Given the description of an element on the screen output the (x, y) to click on. 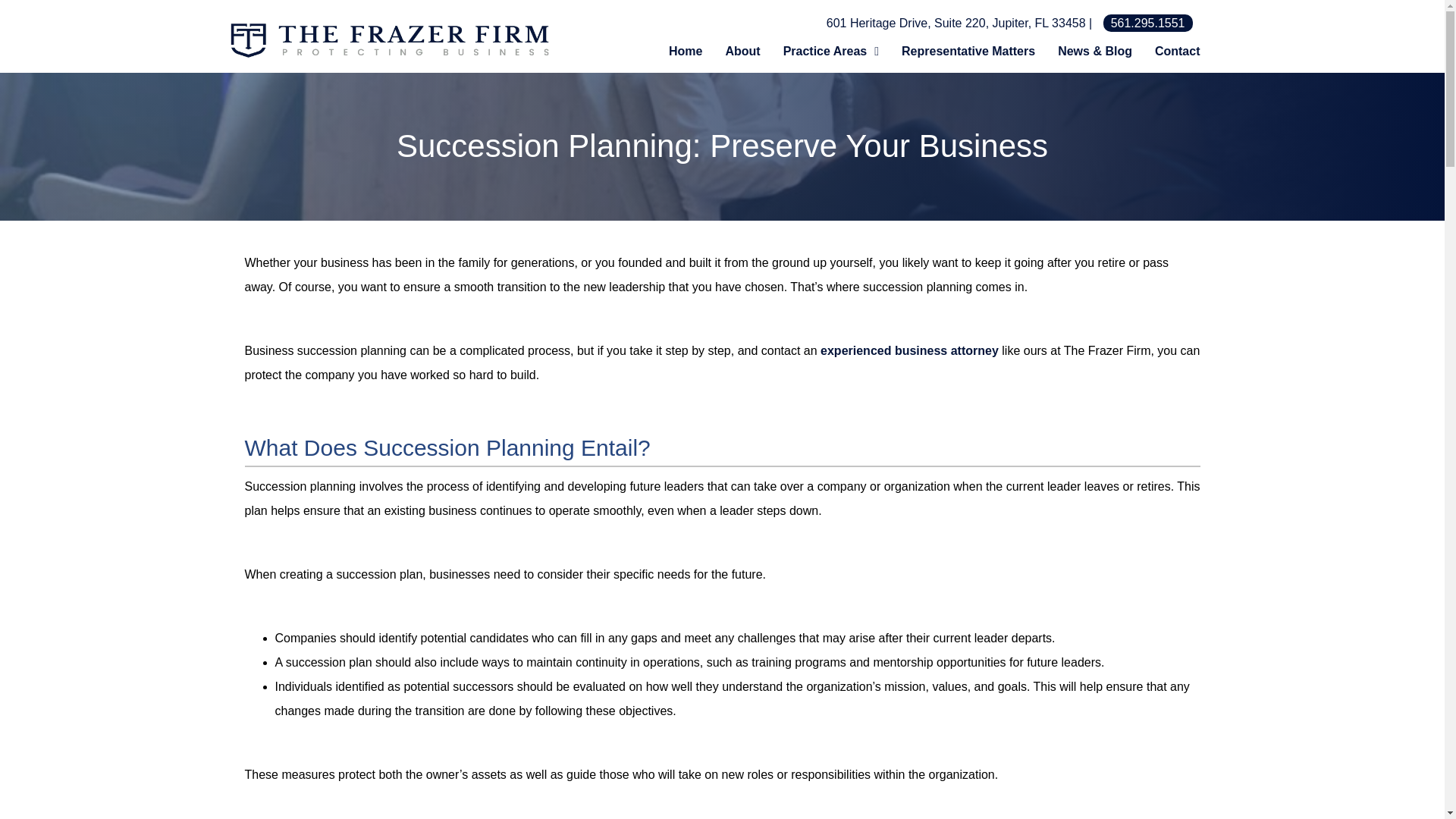
experienced business attorney (909, 350)
About (742, 51)
561.295.1551 (1147, 22)
Home (685, 51)
Contact (1177, 51)
Representative Matters (967, 51)
Practice Areas (831, 51)
Logo-Wordmark-1-Navy-Grey-sm (390, 40)
